Given the description of an element on the screen output the (x, y) to click on. 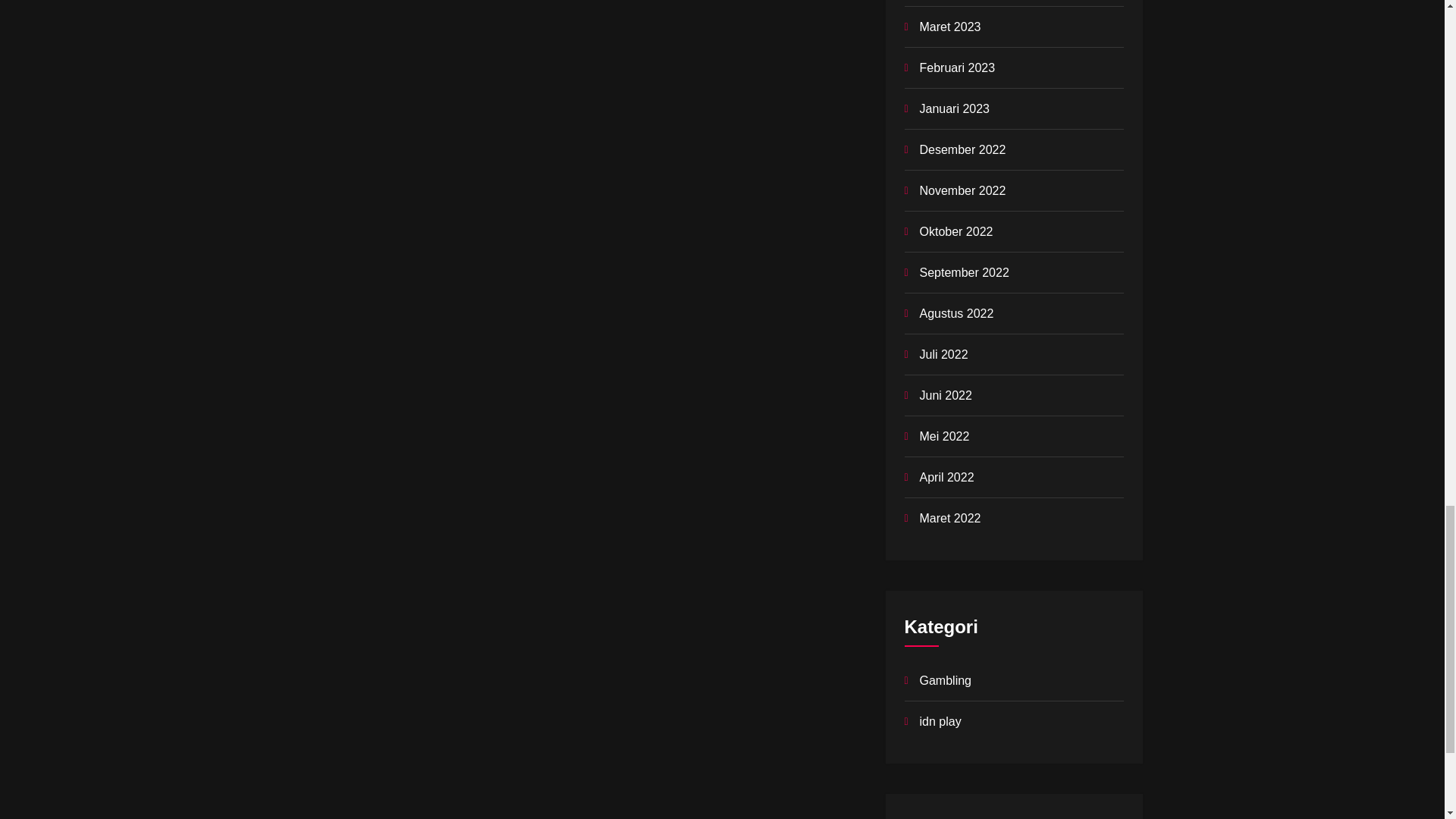
Februari 2023 (956, 67)
Desember 2022 (962, 149)
Juli 2022 (943, 354)
Maret 2023 (948, 26)
Oktober 2022 (955, 231)
September 2022 (963, 272)
November 2022 (962, 190)
Januari 2023 (954, 108)
Agustus 2022 (955, 313)
